Given the description of an element on the screen output the (x, y) to click on. 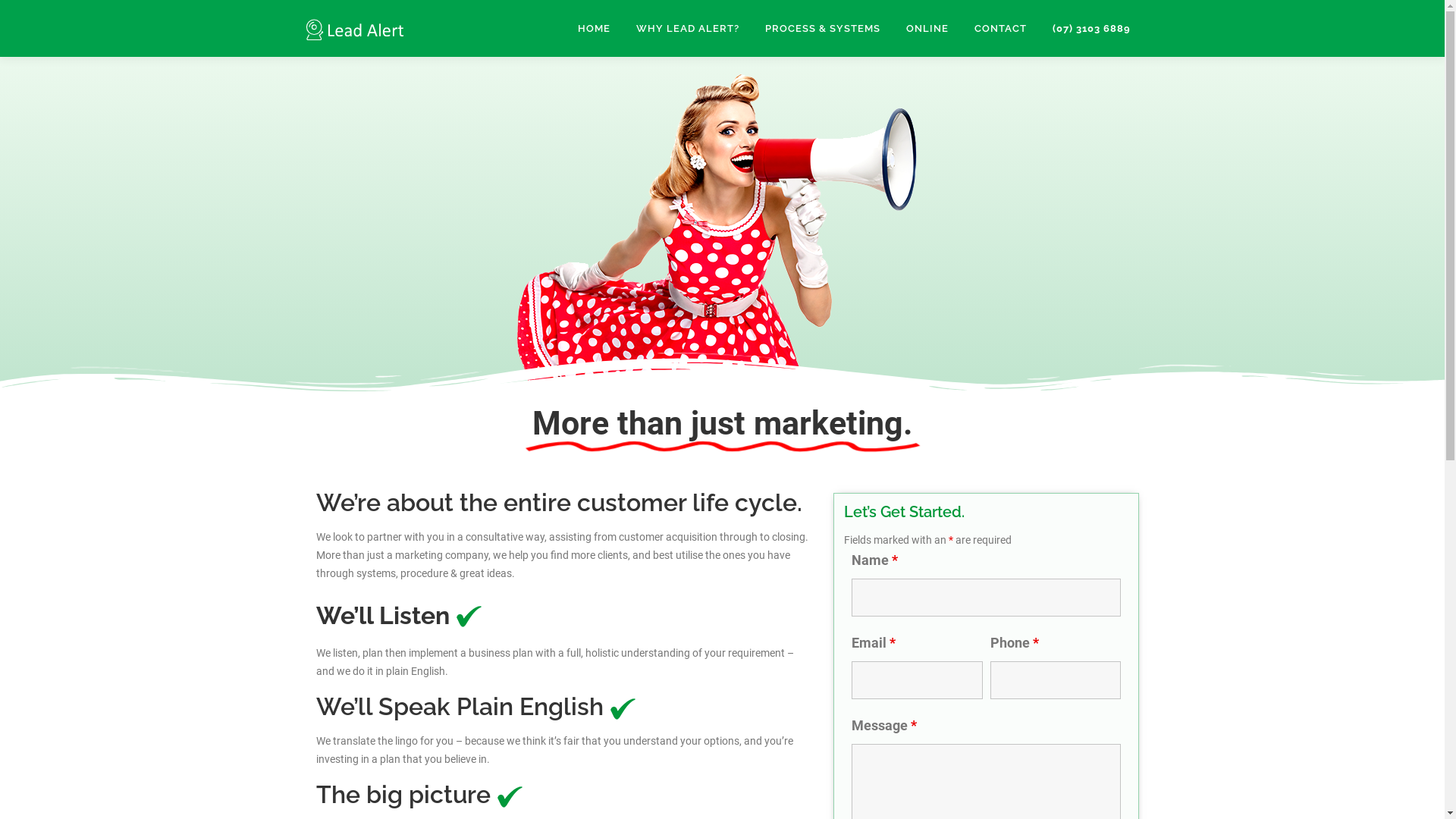
CONTACT Element type: text (1000, 28)
ONLINE Element type: text (927, 28)
HOME Element type: text (593, 28)
(07) 3103 6889 Element type: text (1090, 28)
WHY LEAD ALERT? Element type: text (687, 28)
PROCESS & SYSTEMS Element type: text (822, 28)
